Given the description of an element on the screen output the (x, y) to click on. 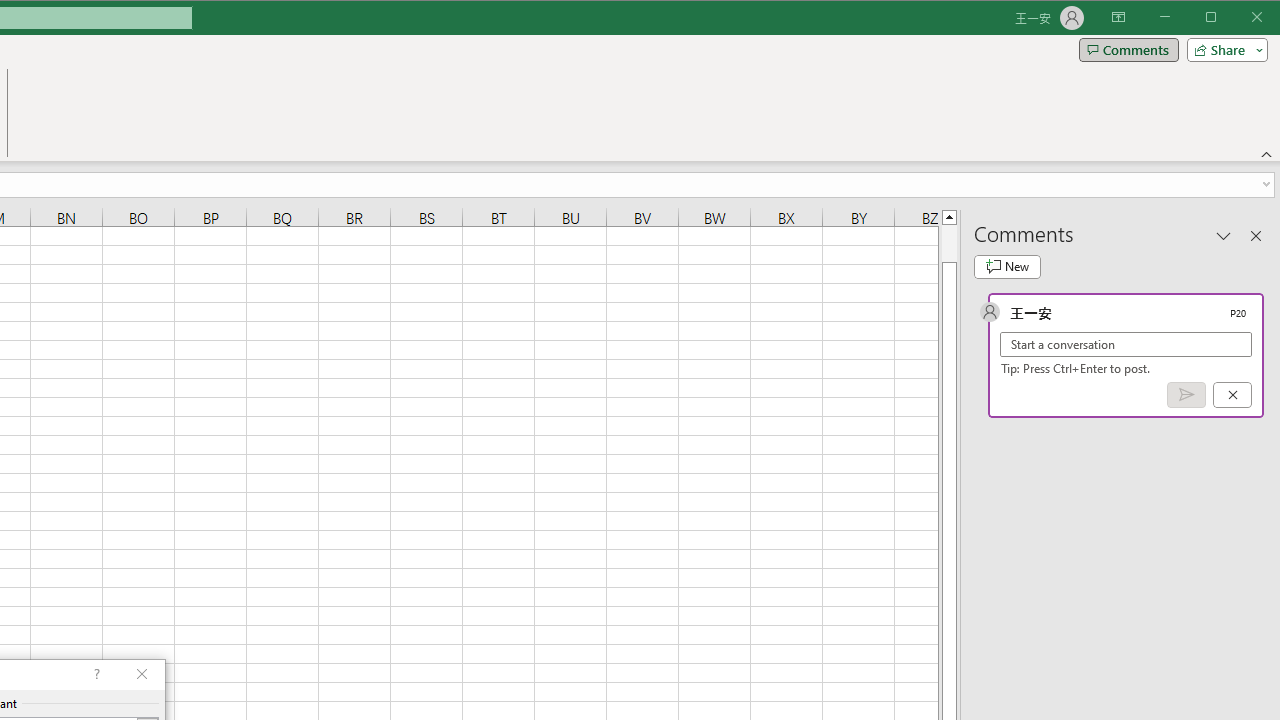
Start a conversation (1126, 344)
